Given the description of an element on the screen output the (x, y) to click on. 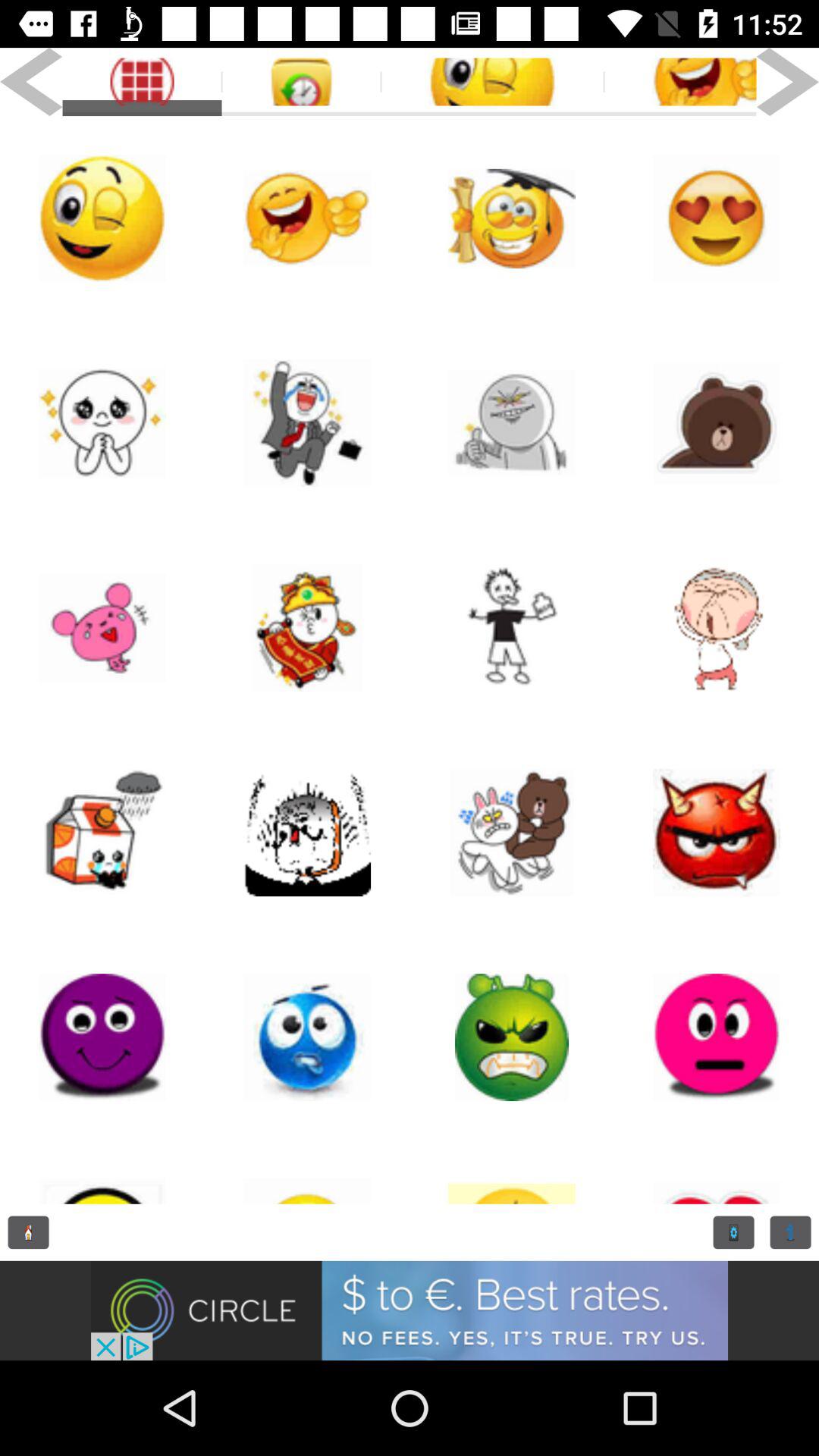
advancement (409, 1310)
